Given the description of an element on the screen output the (x, y) to click on. 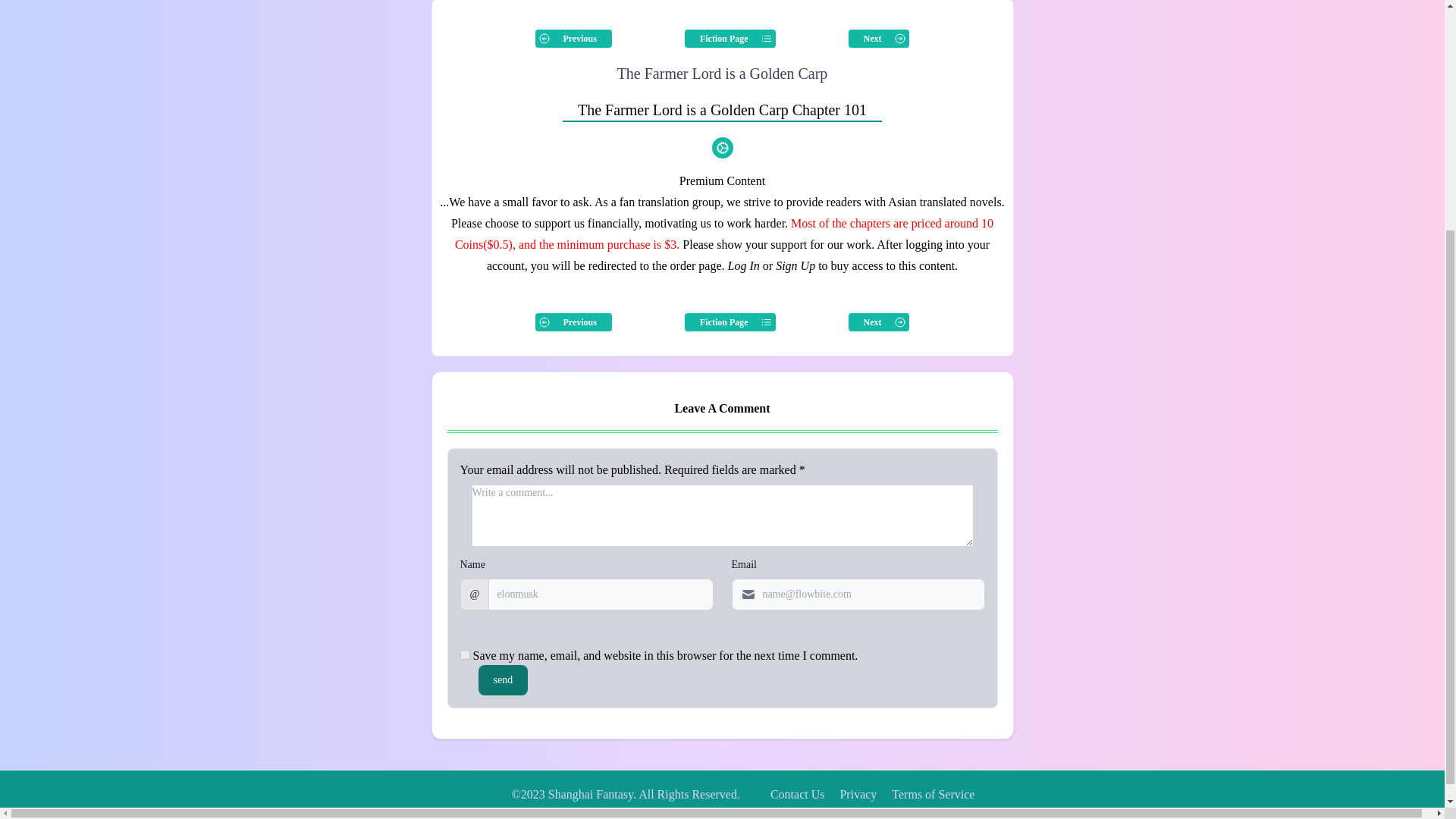
Fiction Page (730, 38)
Next (878, 38)
send (502, 680)
Terms of Service (932, 793)
Log In (744, 265)
Contact Us (797, 793)
Previous (573, 38)
Privacy (858, 793)
Fiction Page (730, 321)
yes (464, 655)
Sign Up (795, 265)
Previous (573, 321)
Next (878, 321)
send (502, 680)
